Given the description of an element on the screen output the (x, y) to click on. 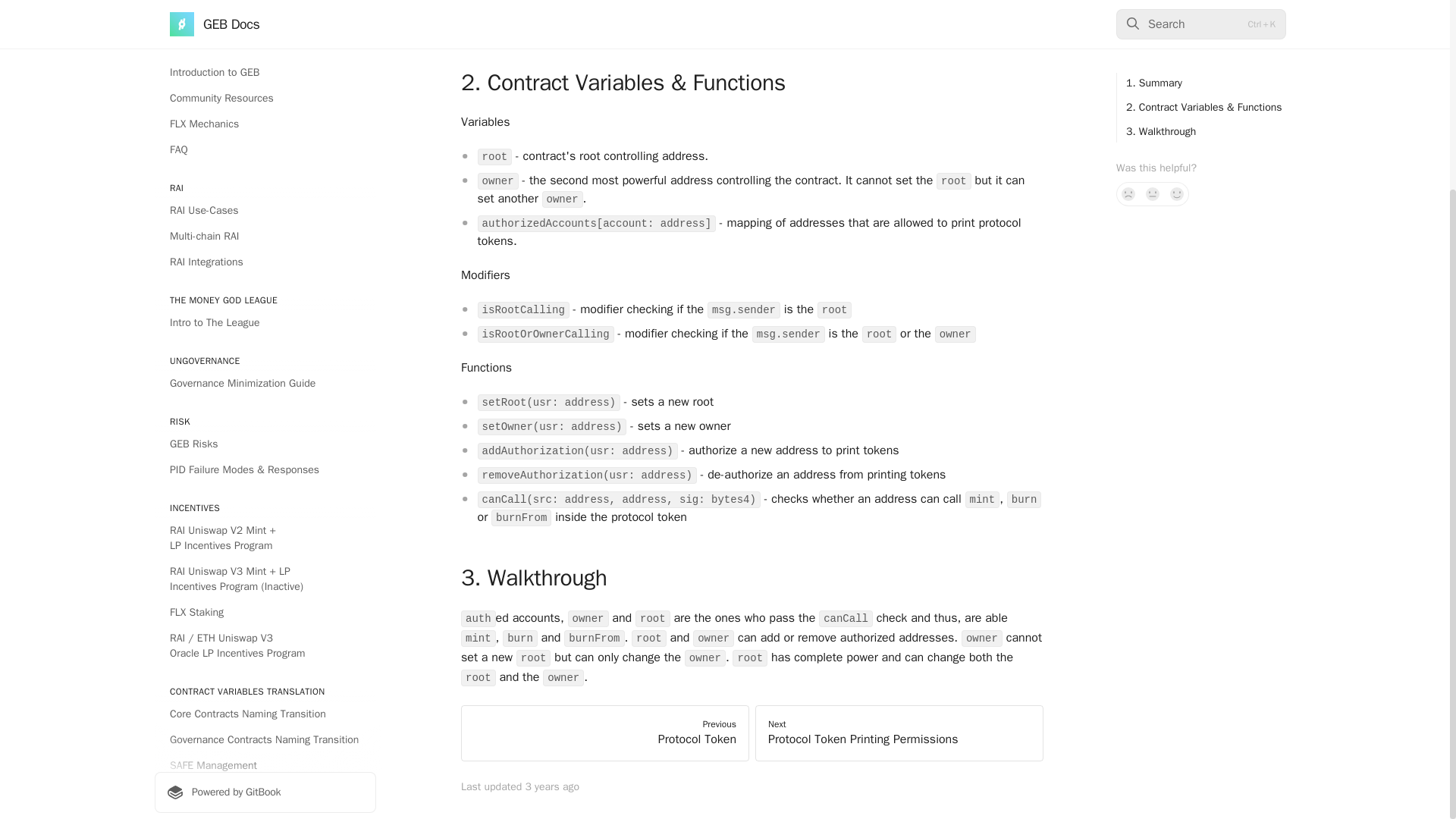
Intro to The League (264, 76)
Core Contracts Naming Transition (264, 467)
Oracle Module (264, 646)
Governance Contracts Naming Transition (264, 493)
FLX Staking (264, 365)
Core Module (264, 595)
GEB Risks (264, 197)
Governance Minimization Guide (264, 137)
SAFE Management Contract Naming Transition (264, 526)
Auction Module (264, 621)
